Given the description of an element on the screen output the (x, y) to click on. 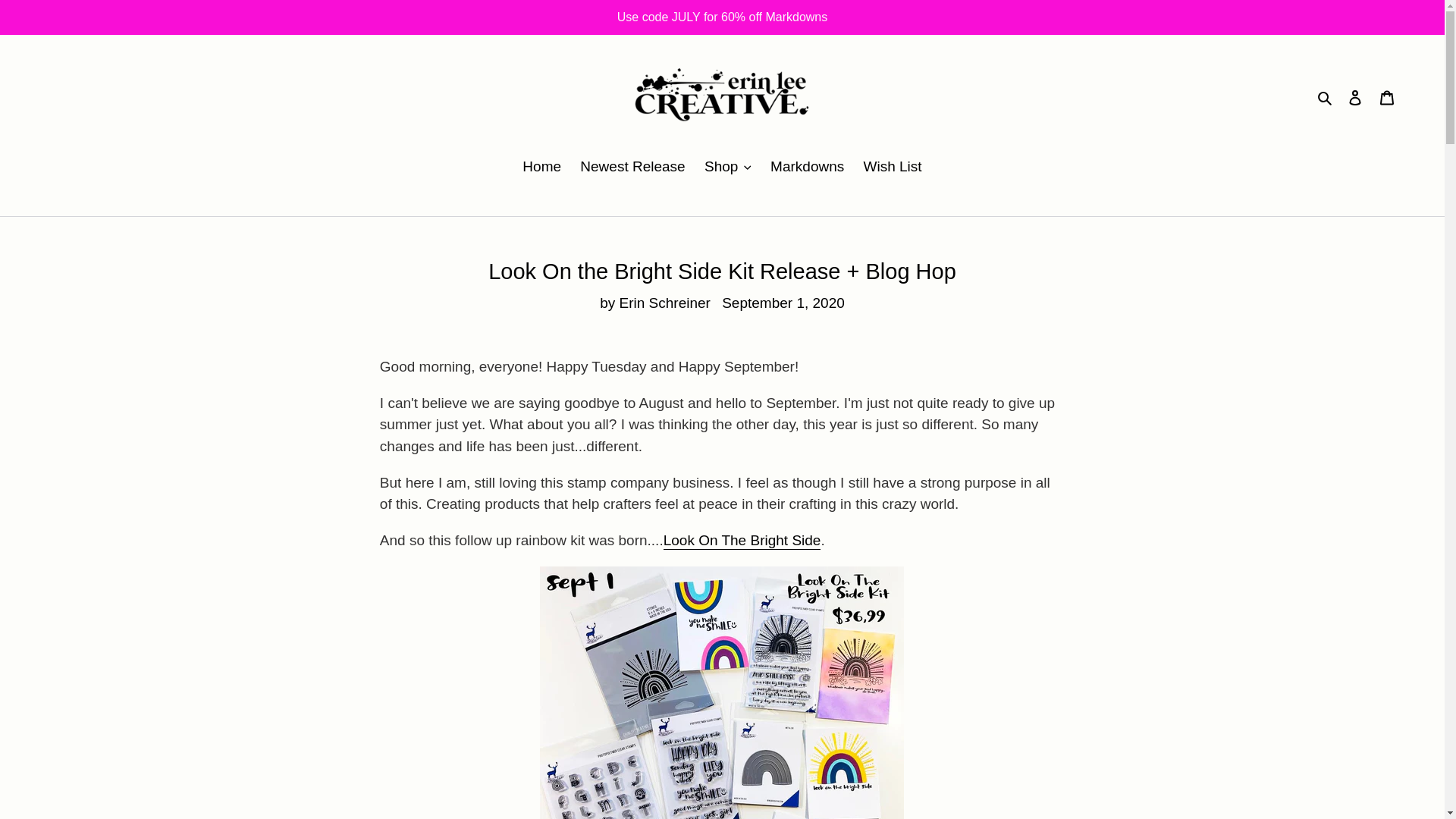
Search (1326, 96)
Shop (727, 168)
Newest Release (632, 168)
Home (542, 168)
